Given the description of an element on the screen output the (x, y) to click on. 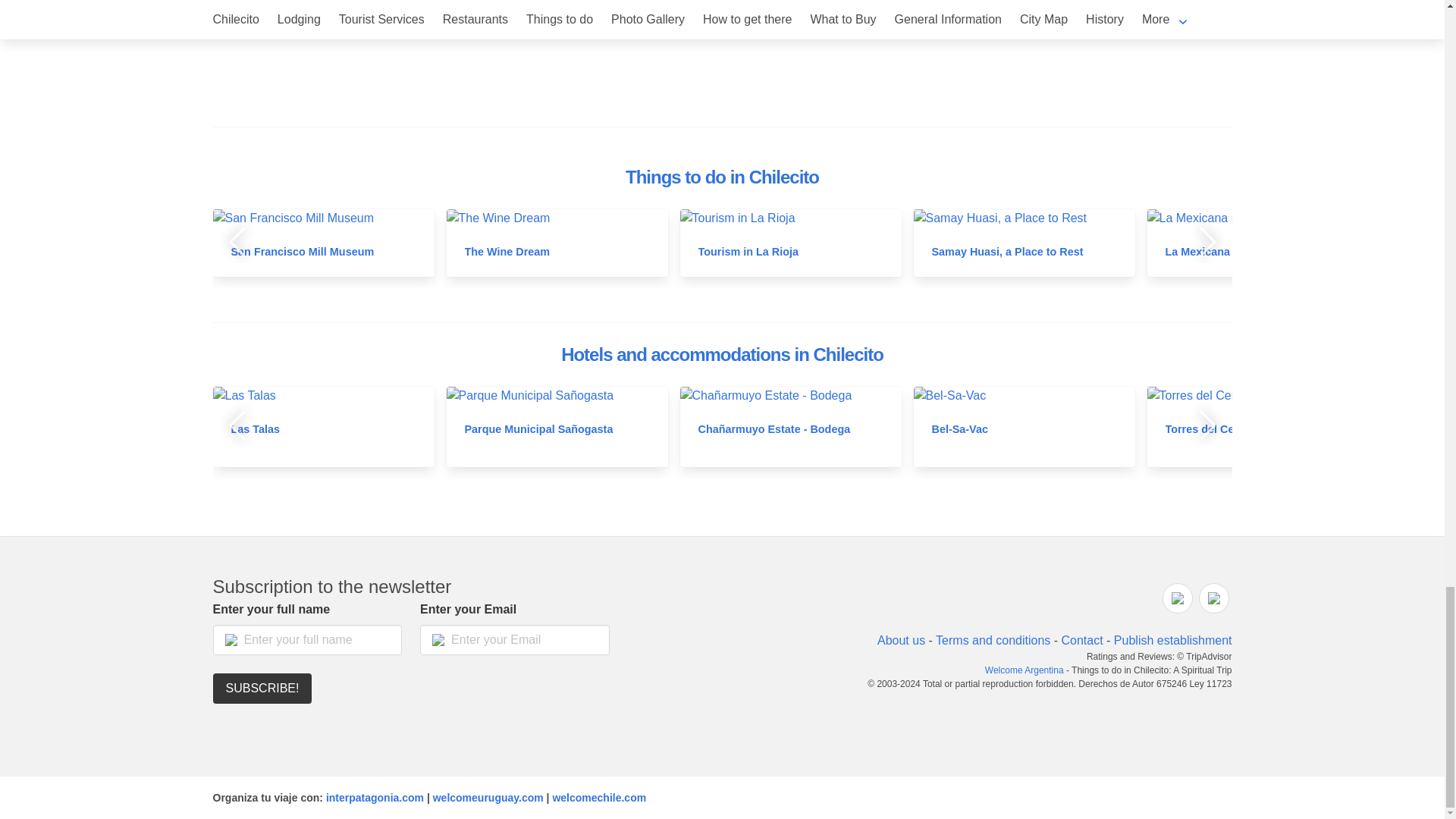
Samay Huasi, a Place to Rest (1007, 251)
Tourism in La Rioja (747, 251)
The Wine Dream (507, 251)
San Francisco Mill Museum (302, 251)
Things to do in Chilecito (722, 177)
La Mexicana mine (1210, 251)
